Given the description of an element on the screen output the (x, y) to click on. 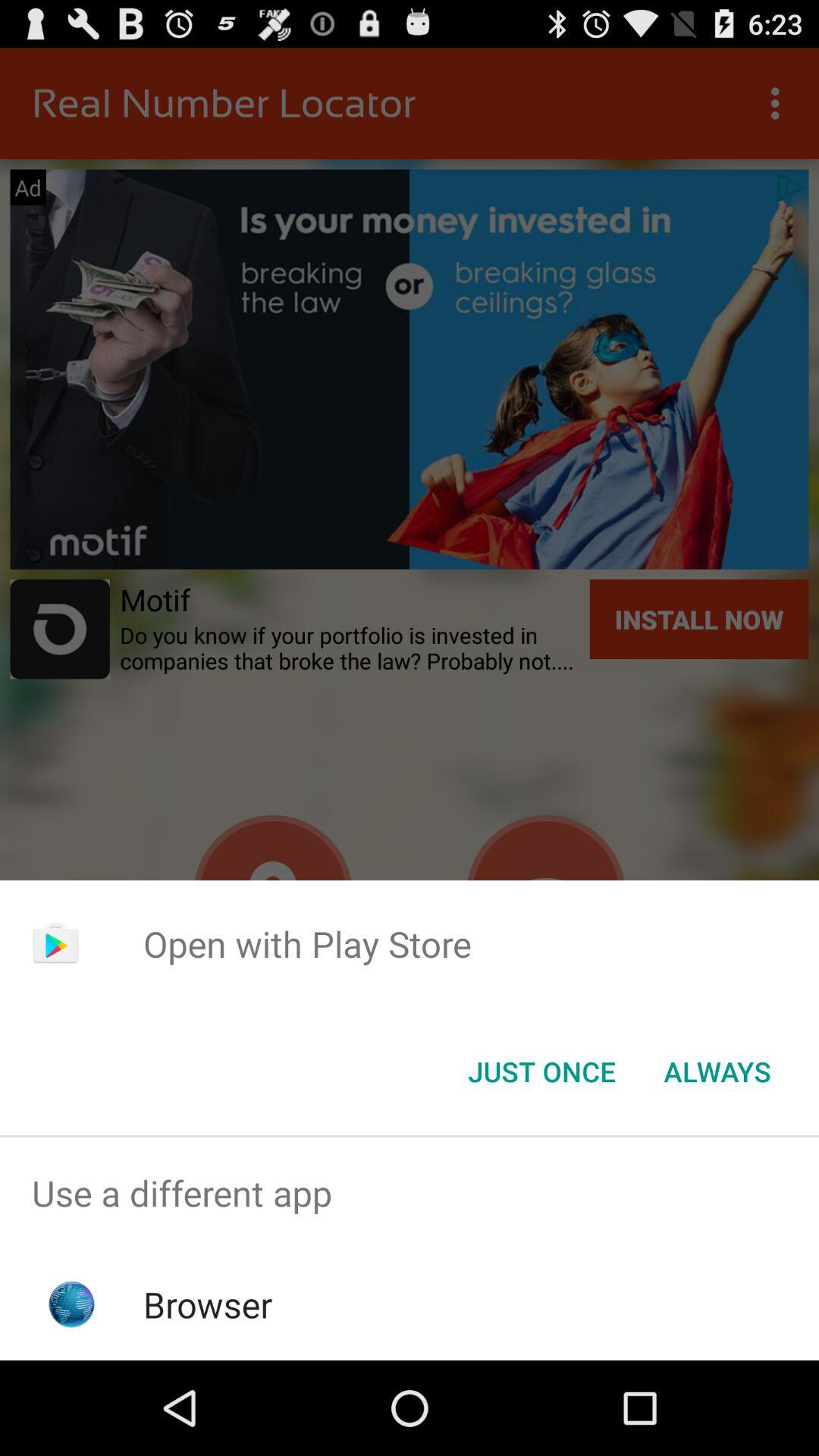
turn off icon next to just once button (717, 1071)
